Given the description of an element on the screen output the (x, y) to click on. 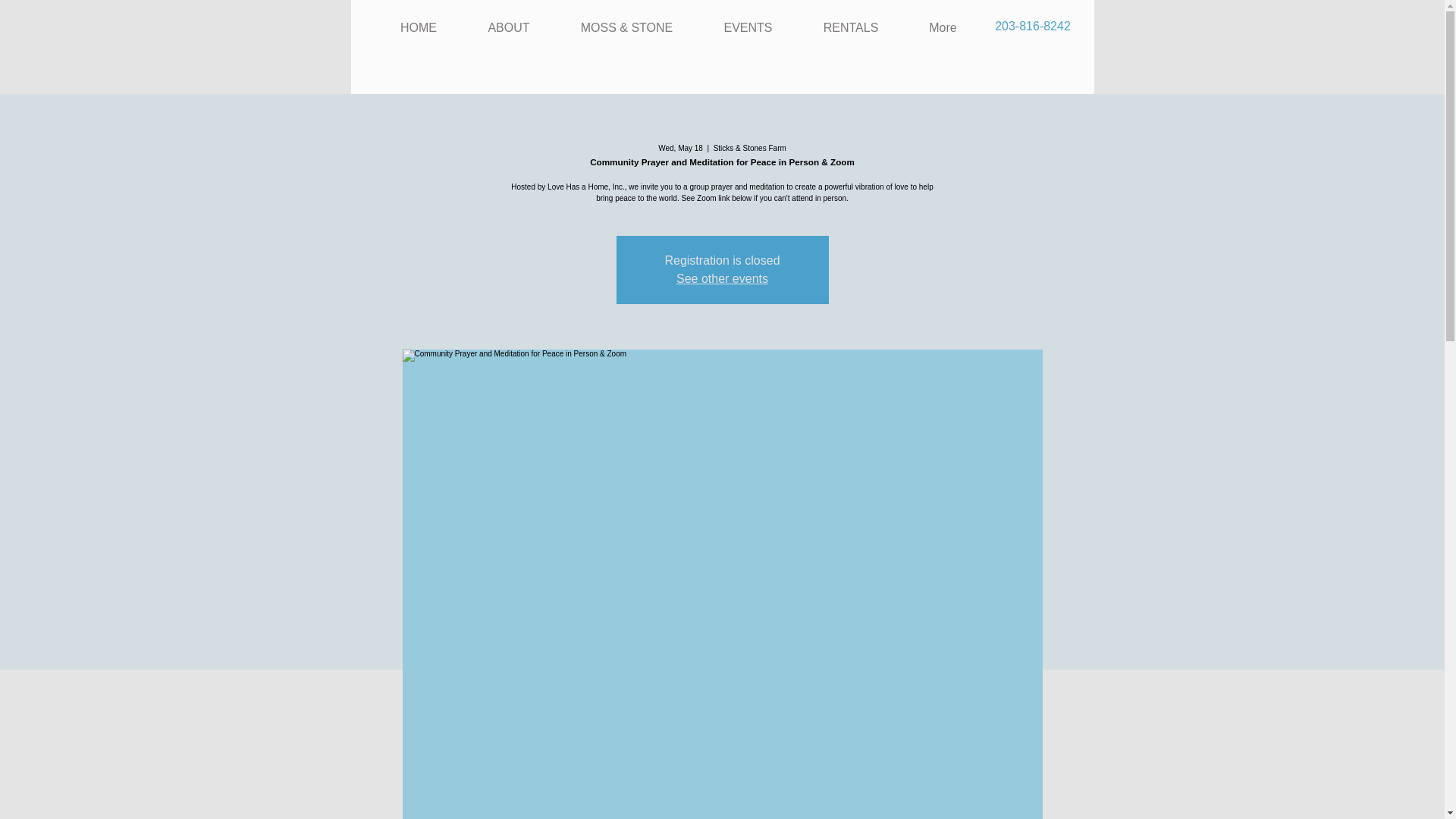
EVENTS (746, 27)
HOME (417, 27)
ABOUT (508, 27)
See other events (722, 278)
